Given the description of an element on the screen output the (x, y) to click on. 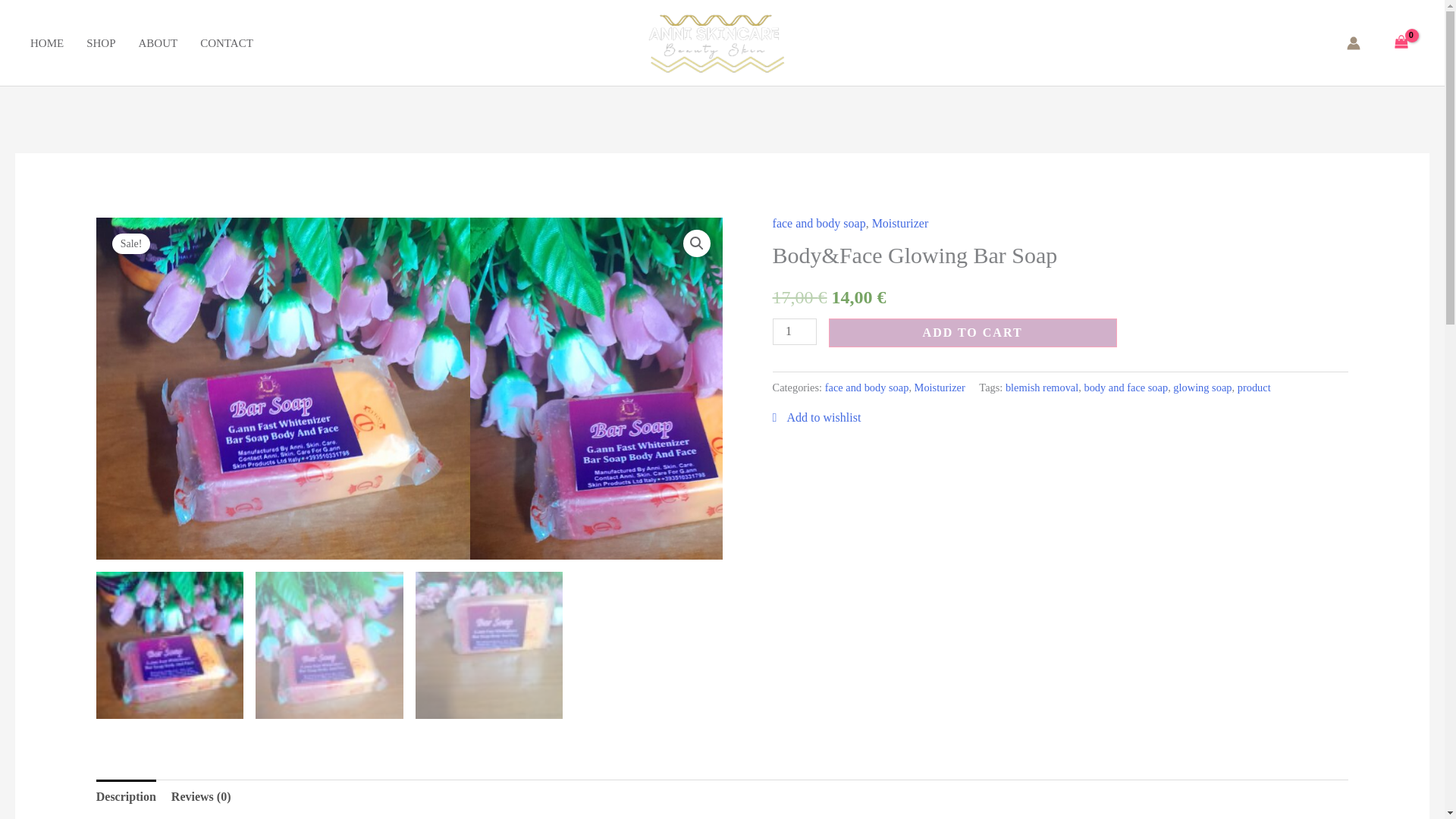
1000030607-scaled.jpg (283, 388)
Moisturizer (900, 223)
glowing soap (1202, 387)
blemish removal (1042, 387)
ADD TO CART (972, 332)
1 (794, 331)
face and body soap (819, 223)
Moisturizer (939, 387)
face and body soap (866, 387)
Add to wishlist (817, 417)
CONTACT (238, 41)
body and face soap (1125, 387)
Description (125, 796)
product (1254, 387)
